Given the description of an element on the screen output the (x, y) to click on. 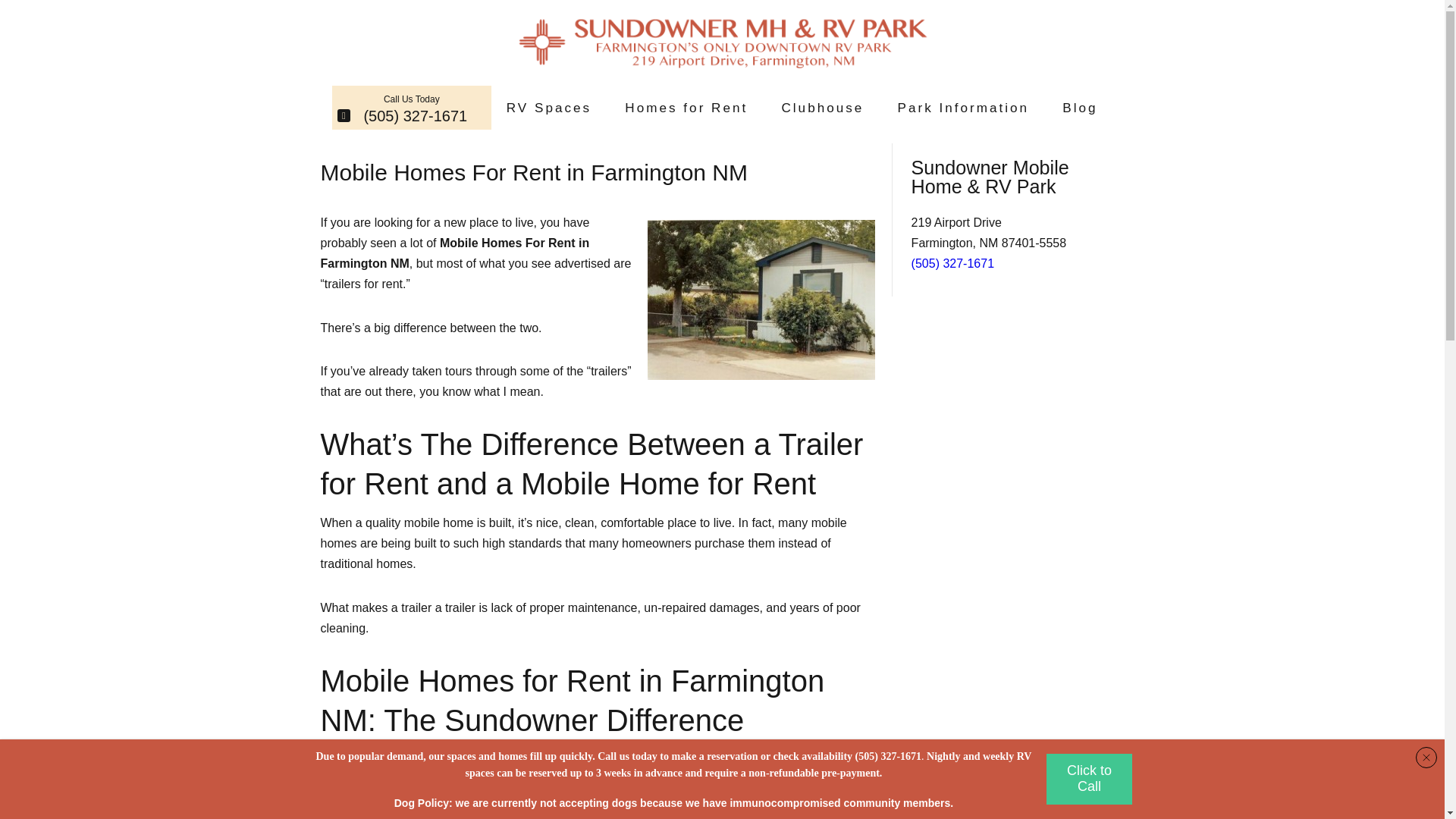
Homes for Rent (686, 107)
RV Spaces (548, 107)
Clubhouse (821, 107)
Blog (1080, 107)
Click to Call (1088, 778)
Park Information (963, 107)
